Given the description of an element on the screen output the (x, y) to click on. 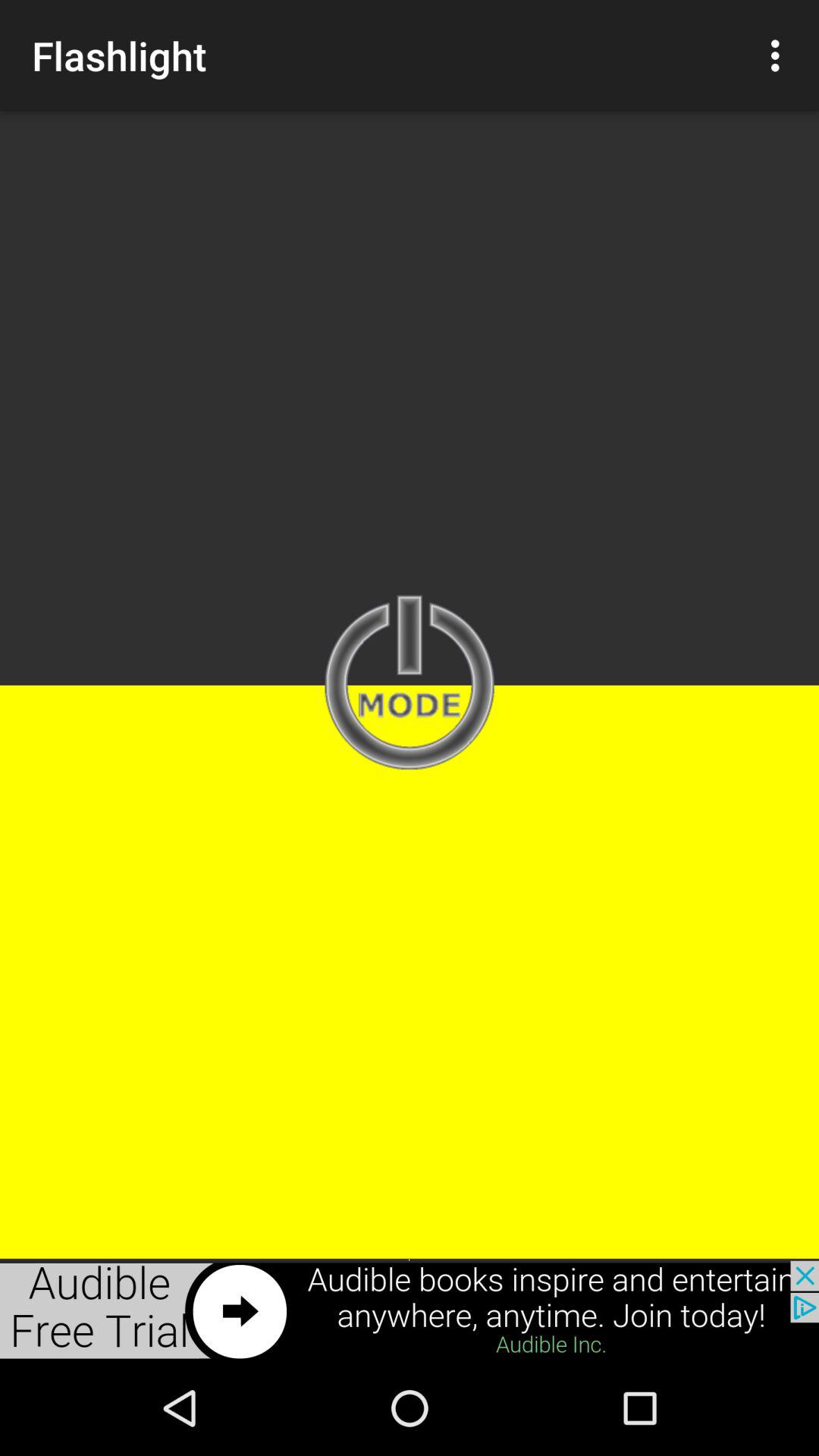
mode enter page (409, 684)
